Given the description of an element on the screen output the (x, y) to click on. 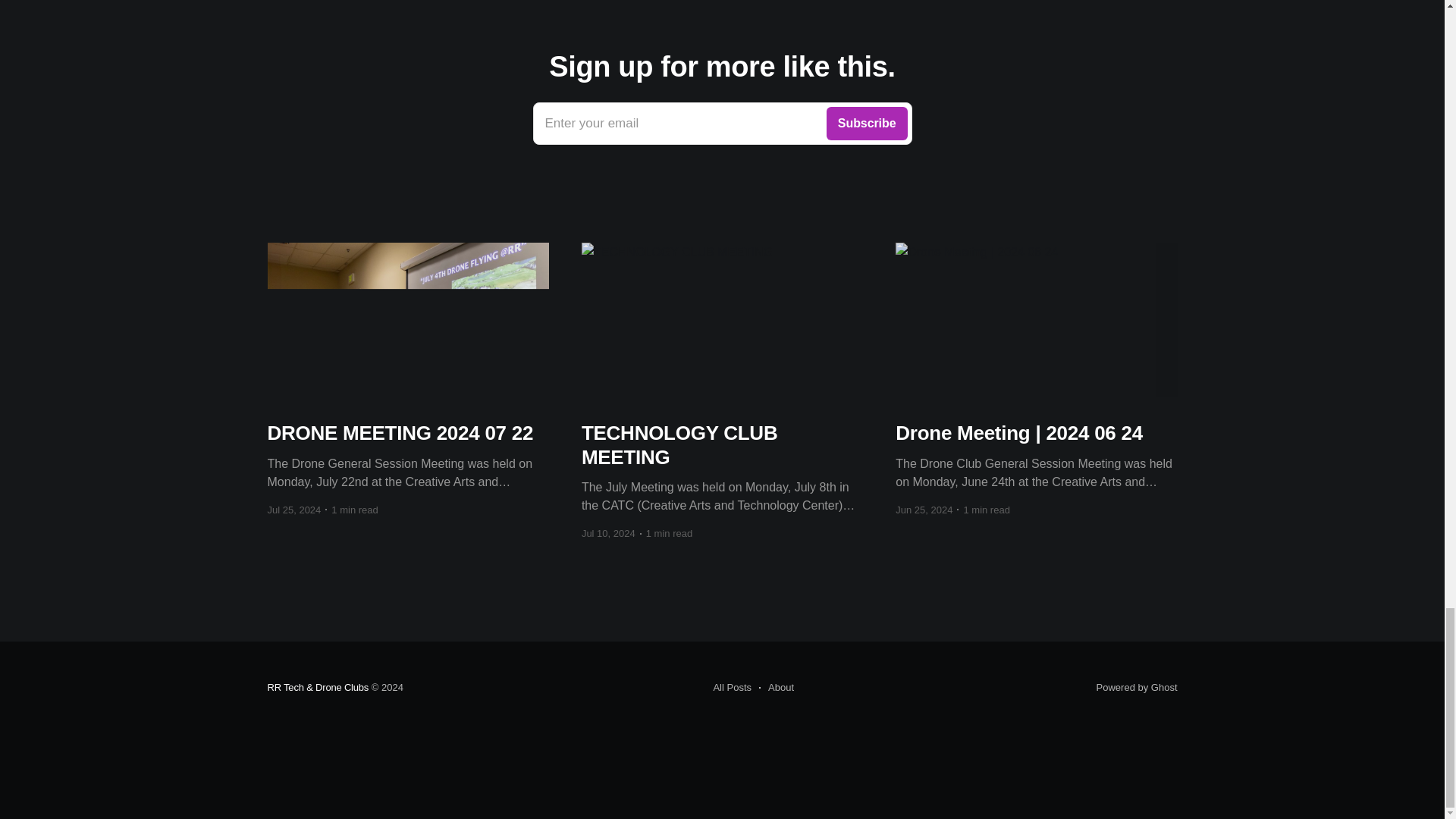
About (775, 687)
All Posts (732, 687)
Powered by Ghost (1136, 686)
